Given the description of an element on the screen output the (x, y) to click on. 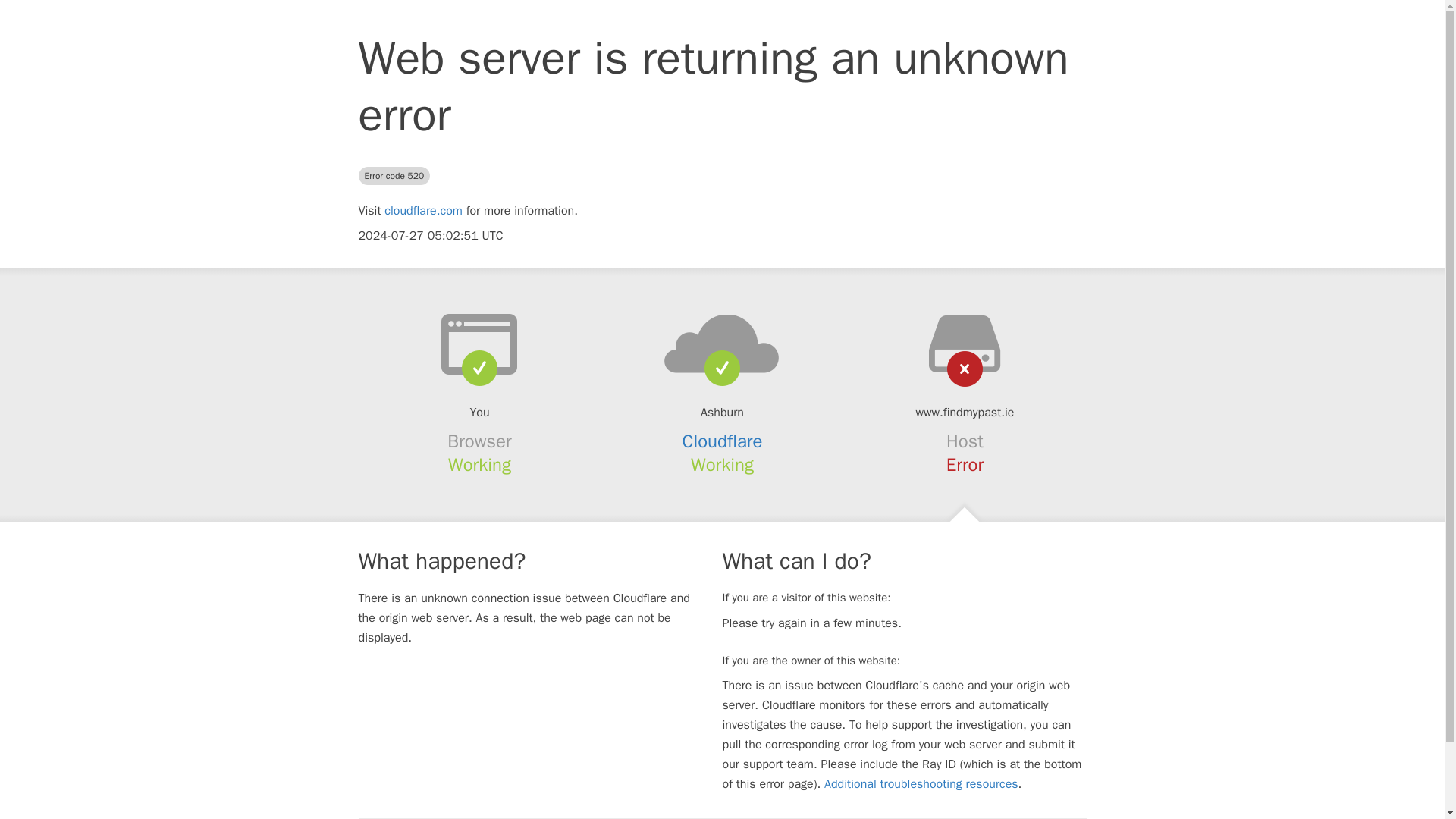
Additional troubleshooting resources (920, 783)
Cloudflare (722, 440)
cloudflare.com (423, 210)
